Given the description of an element on the screen output the (x, y) to click on. 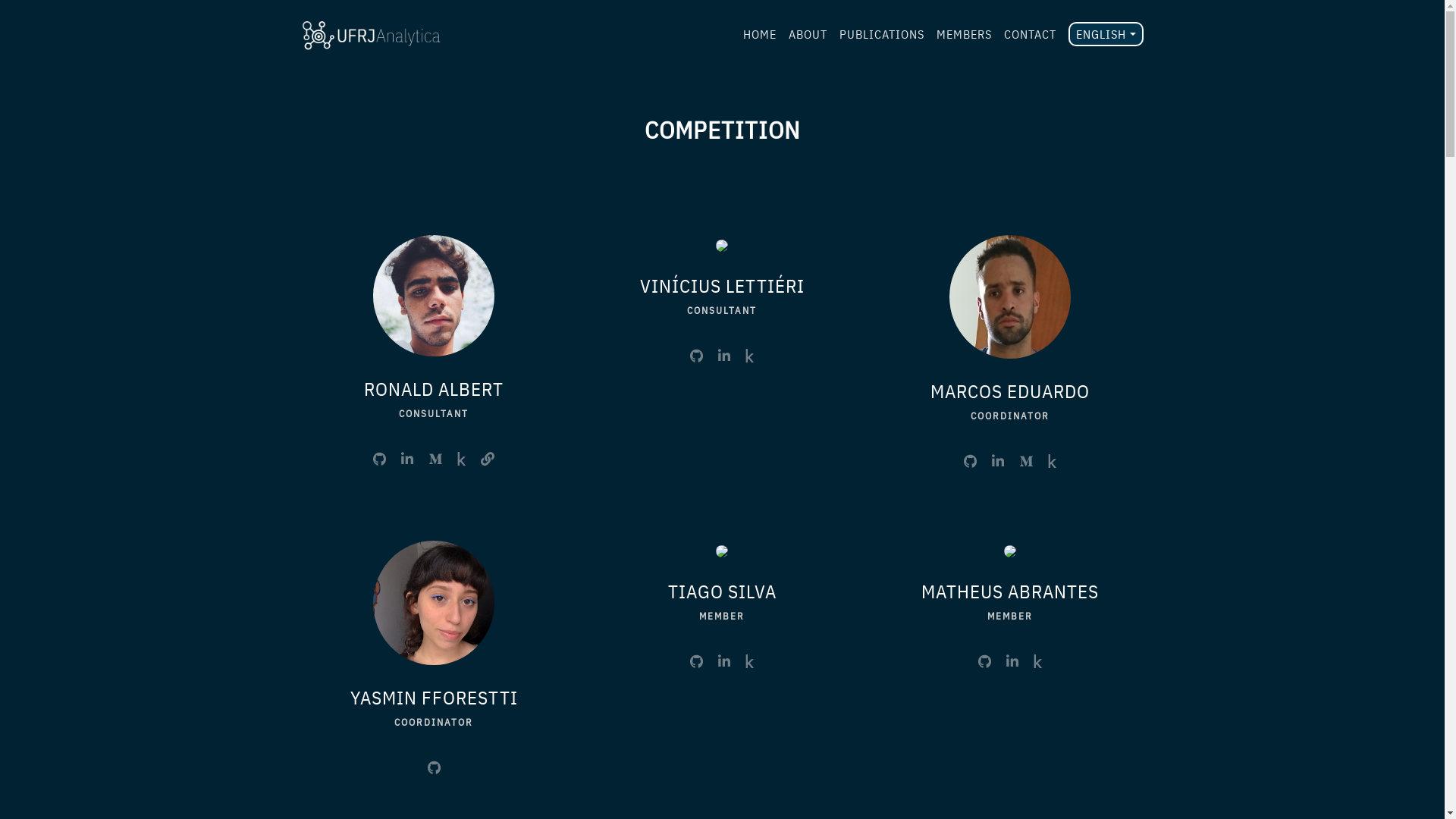
MEMBERS Element type: text (963, 33)
CONTACT Element type: text (1029, 33)
HOME Element type: text (759, 33)
Menu Element type: text (15, 17)
ENGLISH Element type: text (1105, 33)
PUBLICATIONS Element type: text (881, 33)
ABOUT Element type: text (807, 33)
